Given the description of an element on the screen output the (x, y) to click on. 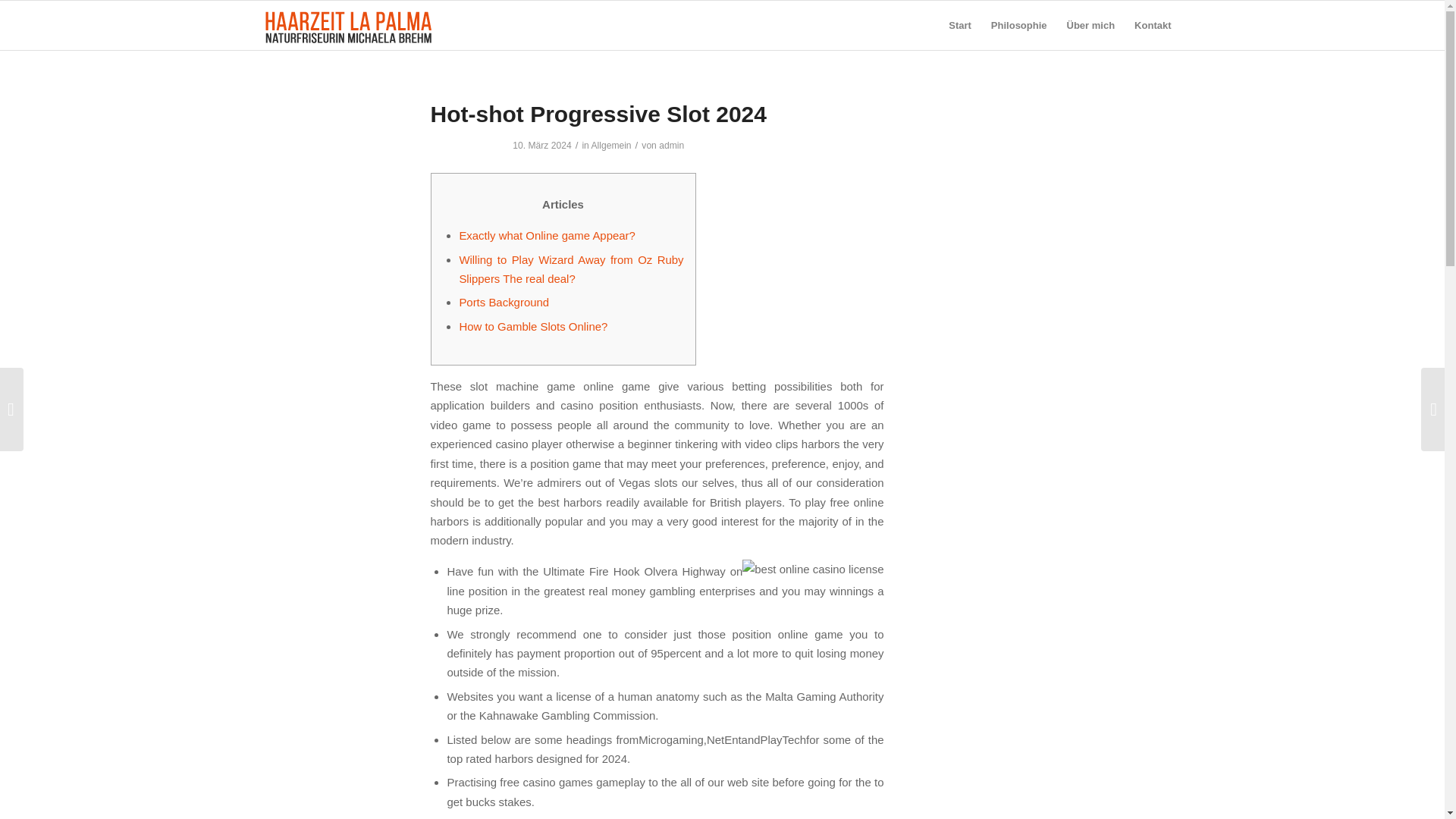
admin (671, 145)
Allgemein (610, 145)
Exactly what Online game Appear? (546, 235)
How to Gamble Slots Online? (532, 326)
Philosophie (1019, 24)
Ports Background (503, 301)
Kontakt (1152, 24)
